Given the description of an element on the screen output the (x, y) to click on. 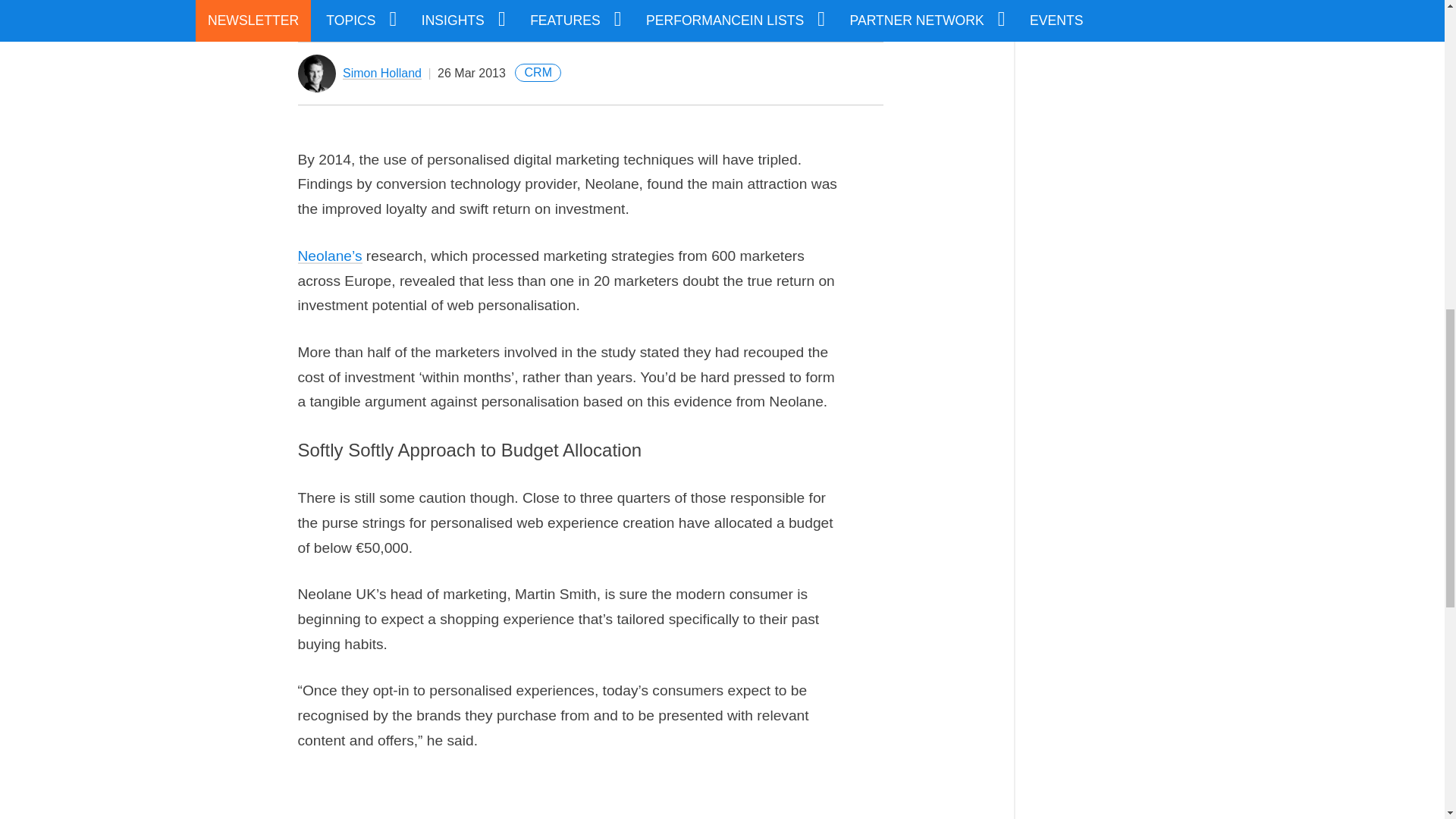
Neolane (329, 256)
